Given the description of an element on the screen output the (x, y) to click on. 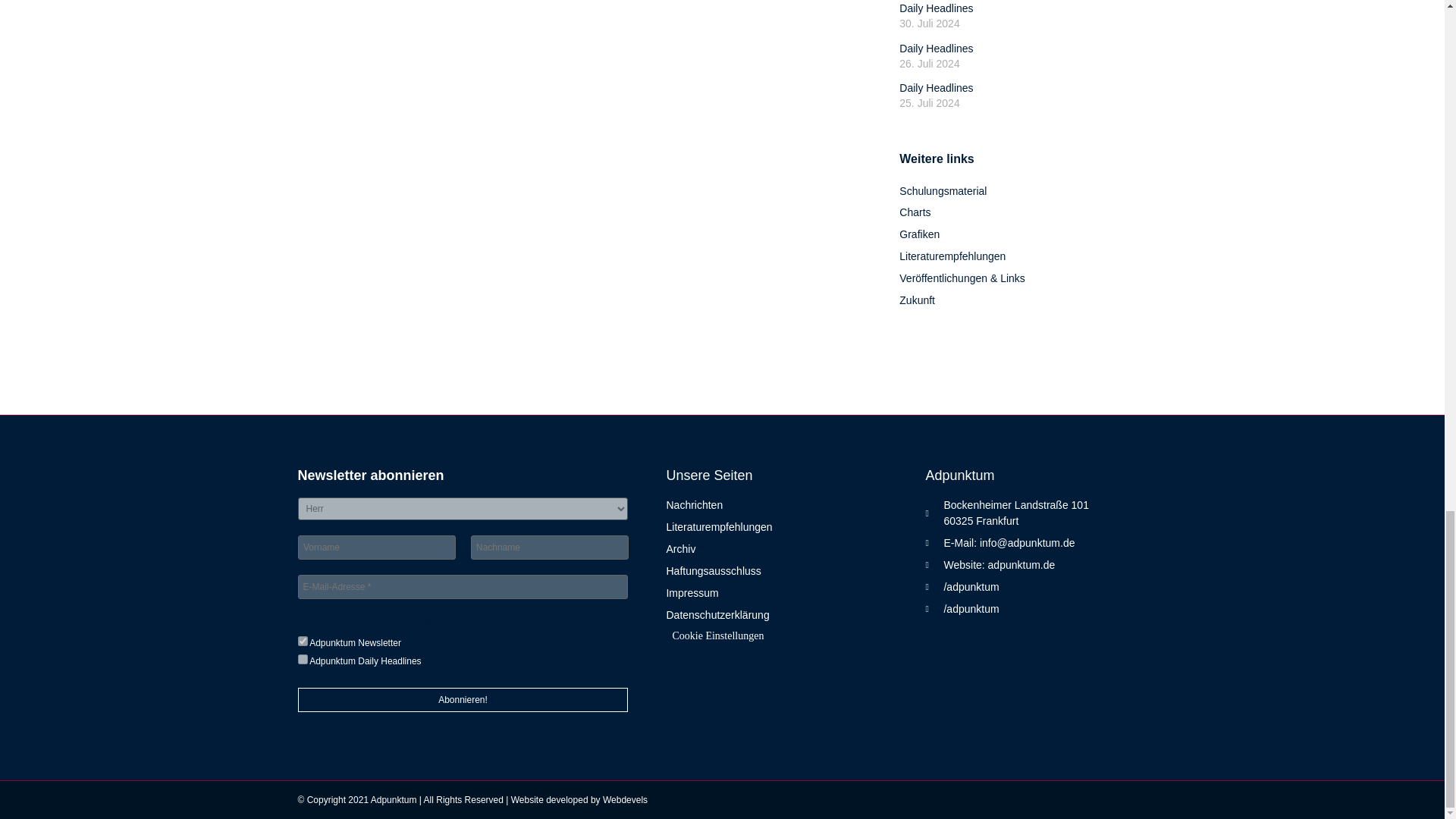
Nachname (548, 547)
Abonnieren! (462, 699)
E-Mail-Adresse (462, 586)
4 (302, 641)
Vorname (375, 547)
5 (302, 659)
